Given the description of an element on the screen output the (x, y) to click on. 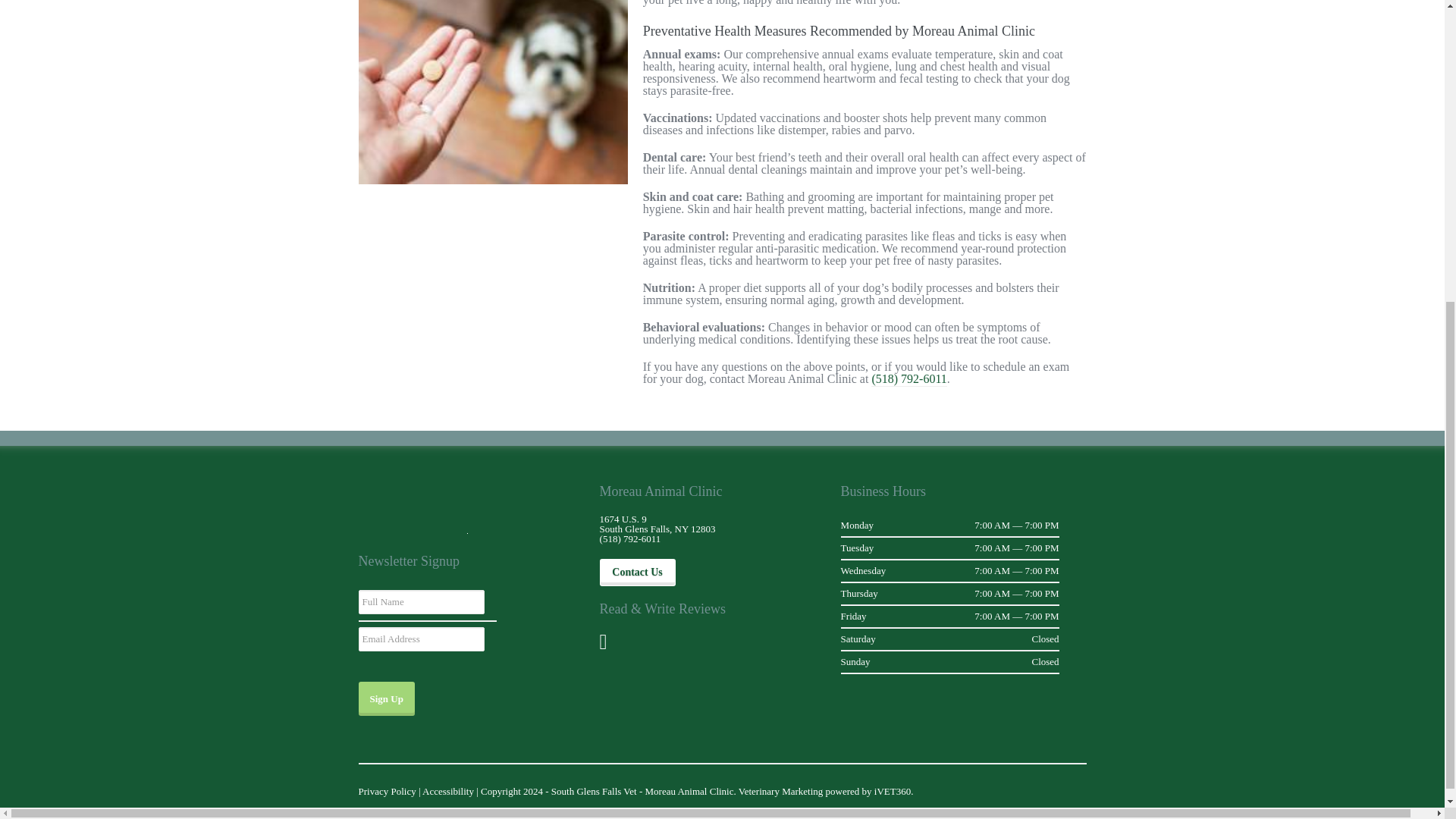
Veterinary Marketing (781, 791)
iVET360 (893, 791)
Contact Us (637, 572)
Sign Up (385, 698)
Email Address (420, 639)
Sign Up (385, 698)
Full Name (420, 601)
Privacy Policy (386, 791)
Accessibility (448, 791)
